Given the description of an element on the screen output the (x, y) to click on. 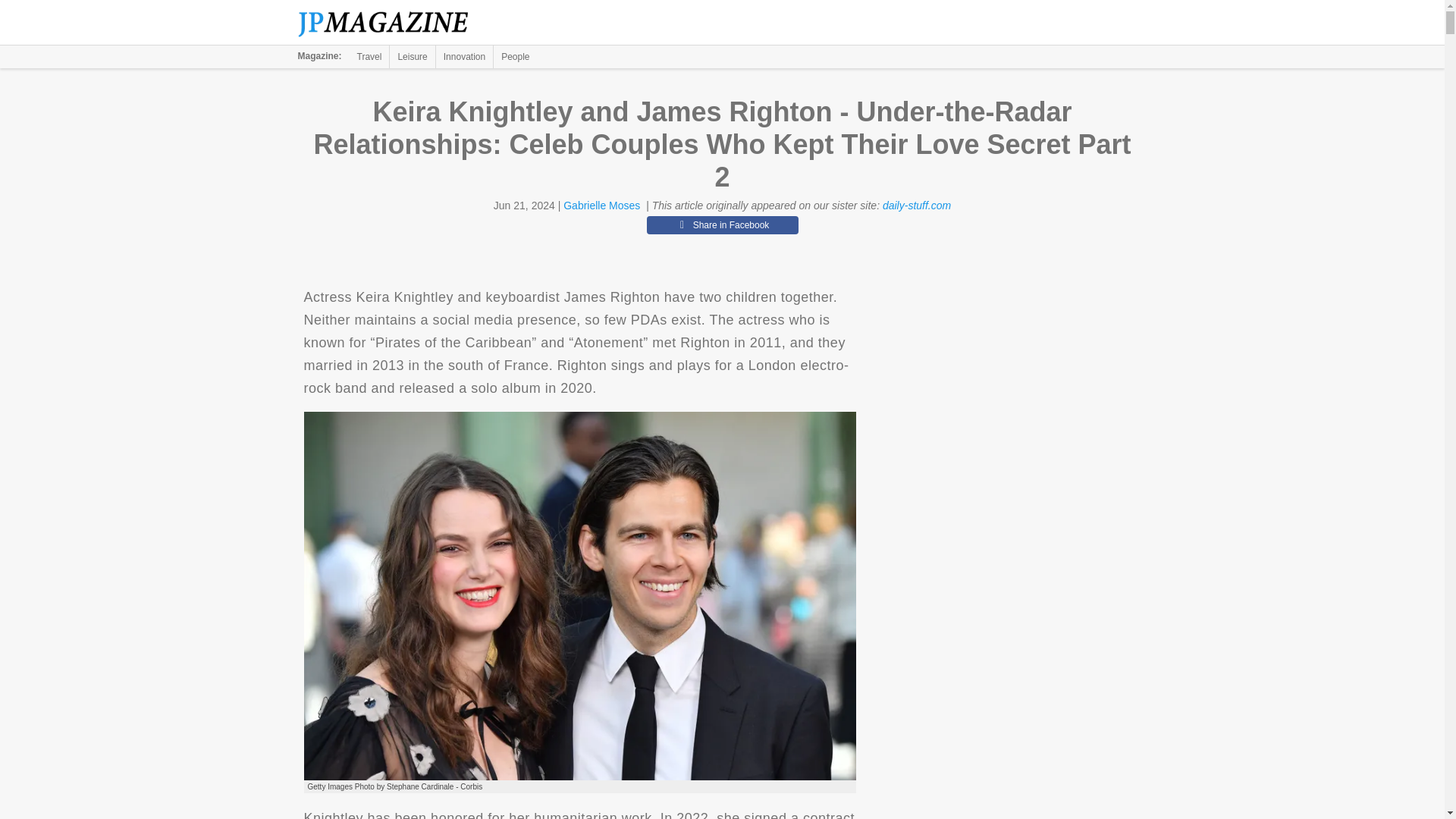
Share in Facebook (721, 225)
Innovation (464, 56)
daily-stuff.com (916, 205)
People (515, 56)
The Jerusalem Post Magazine (391, 22)
Leisure (411, 56)
Gabrielle Moses (601, 205)
Travel (369, 56)
